Given the description of an element on the screen output the (x, y) to click on. 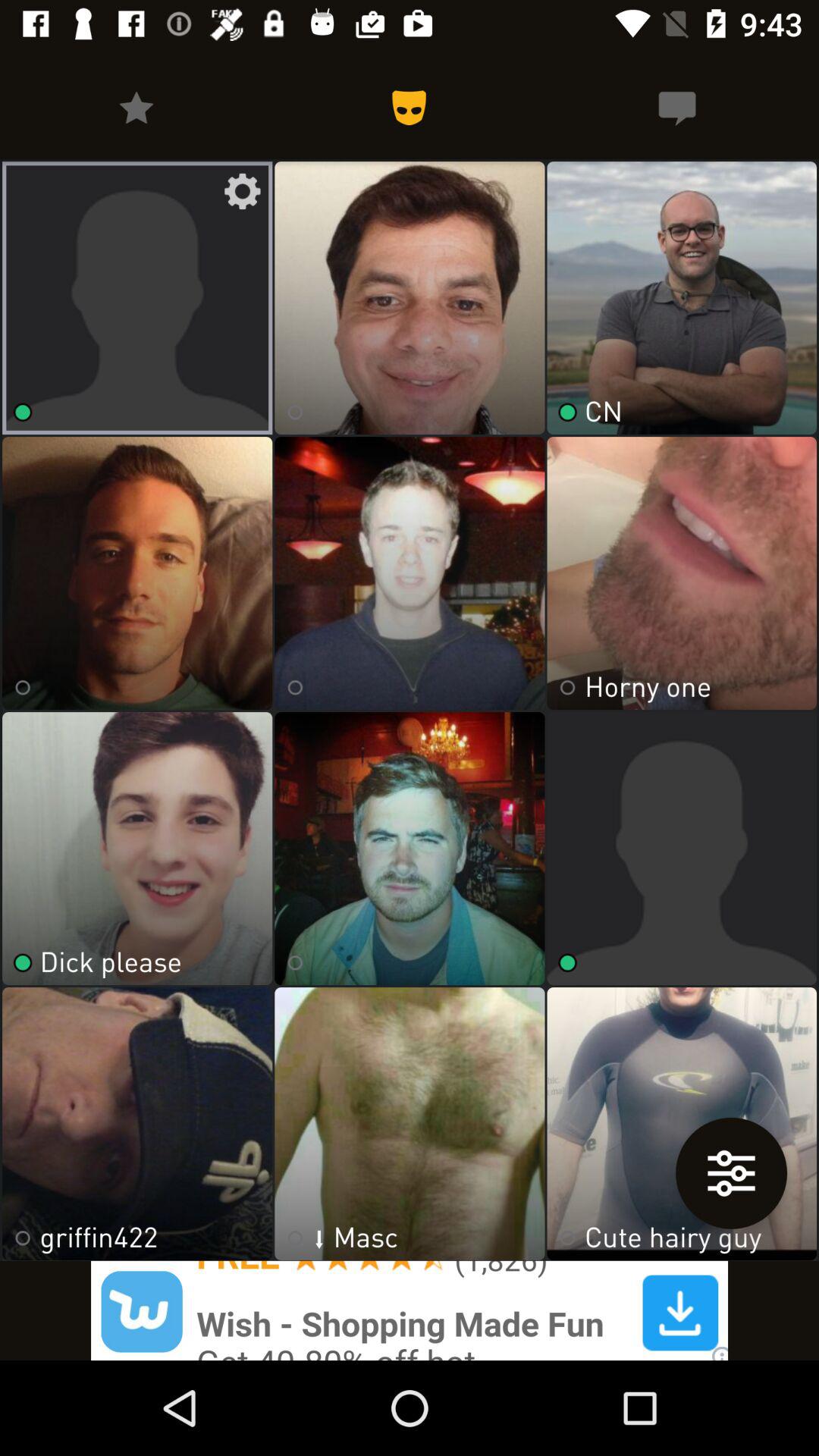
open advertisement (409, 1310)
